Given the description of an element on the screen output the (x, y) to click on. 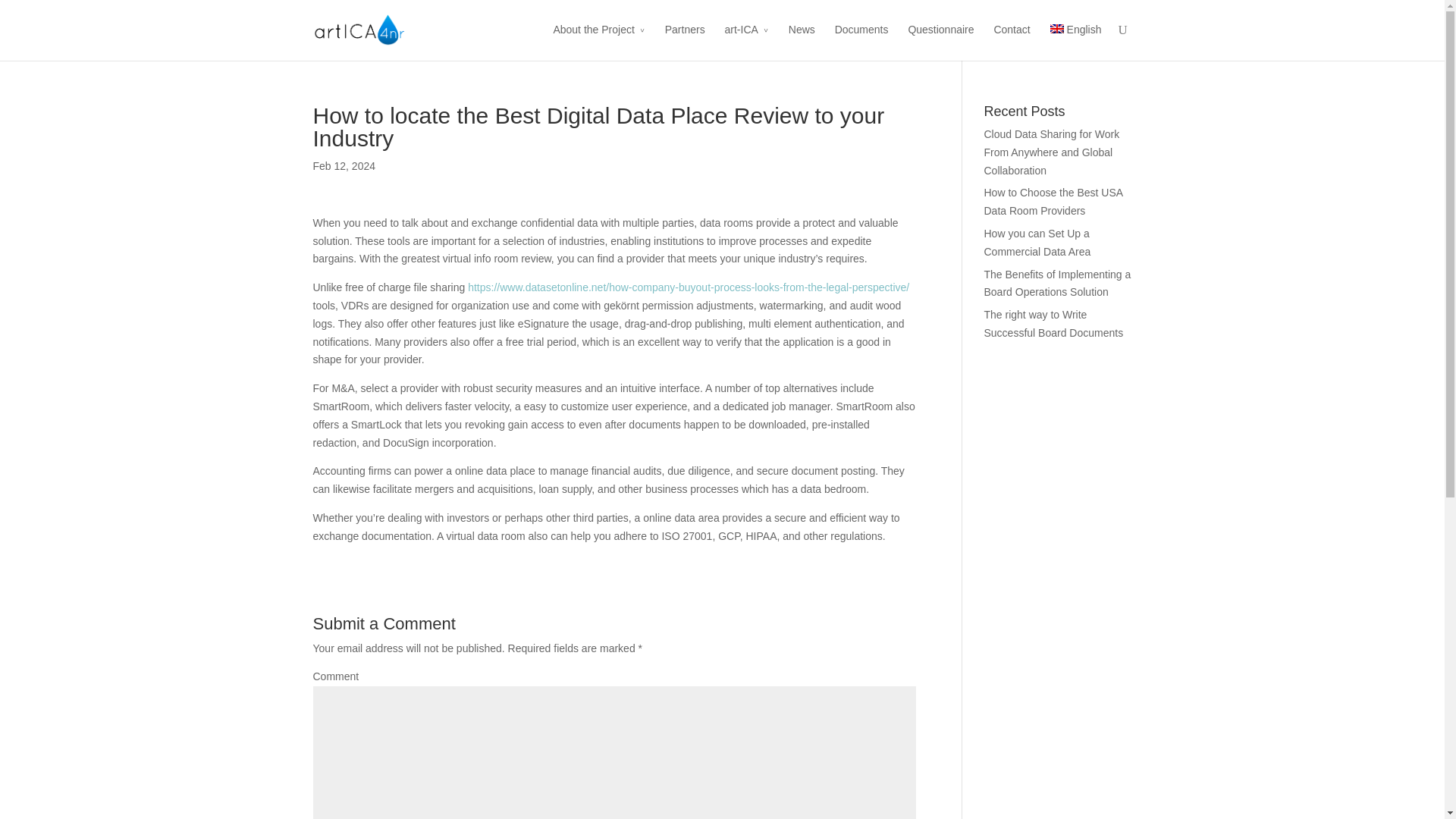
How you can Set Up a Commercial Data Area (1037, 242)
English (1075, 40)
The right way to Write Successful Board Documents (1054, 323)
Contact (1010, 40)
How to Choose the Best USA Data Room Providers (1053, 201)
About the Project (599, 40)
The Benefits of Implementing a Board Operations Solution (1057, 283)
Partners (684, 40)
art-ICA (746, 40)
English (1056, 28)
Documents (861, 40)
Questionnaire (940, 40)
